Given the description of an element on the screen output the (x, y) to click on. 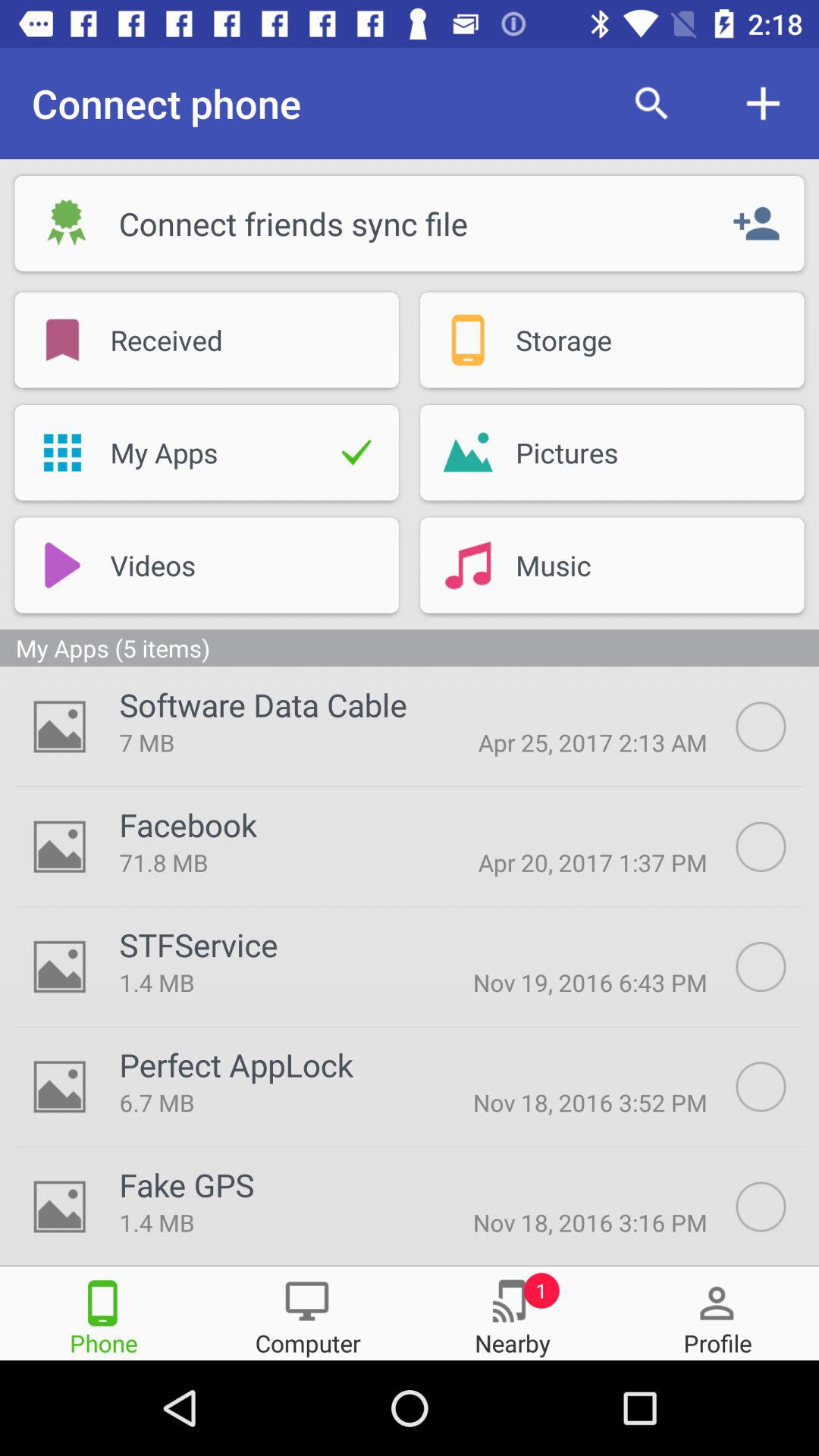
turn on the app below the 6.7 mb icon (186, 1184)
